Given the description of an element on the screen output the (x, y) to click on. 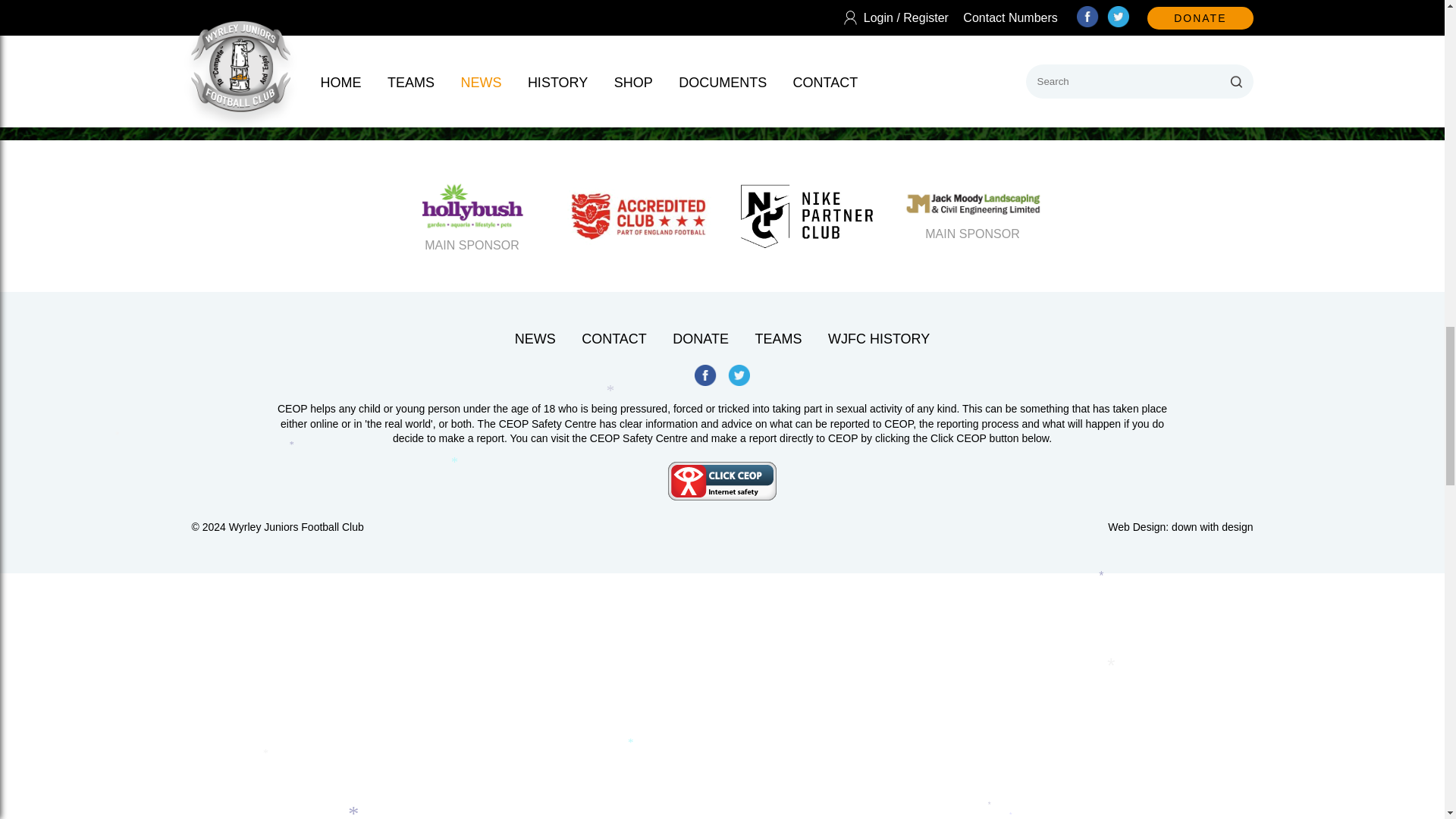
AWAY SHIRT (506, 24)
HOME SHIRT (290, 24)
